Given the description of an element on the screen output the (x, y) to click on. 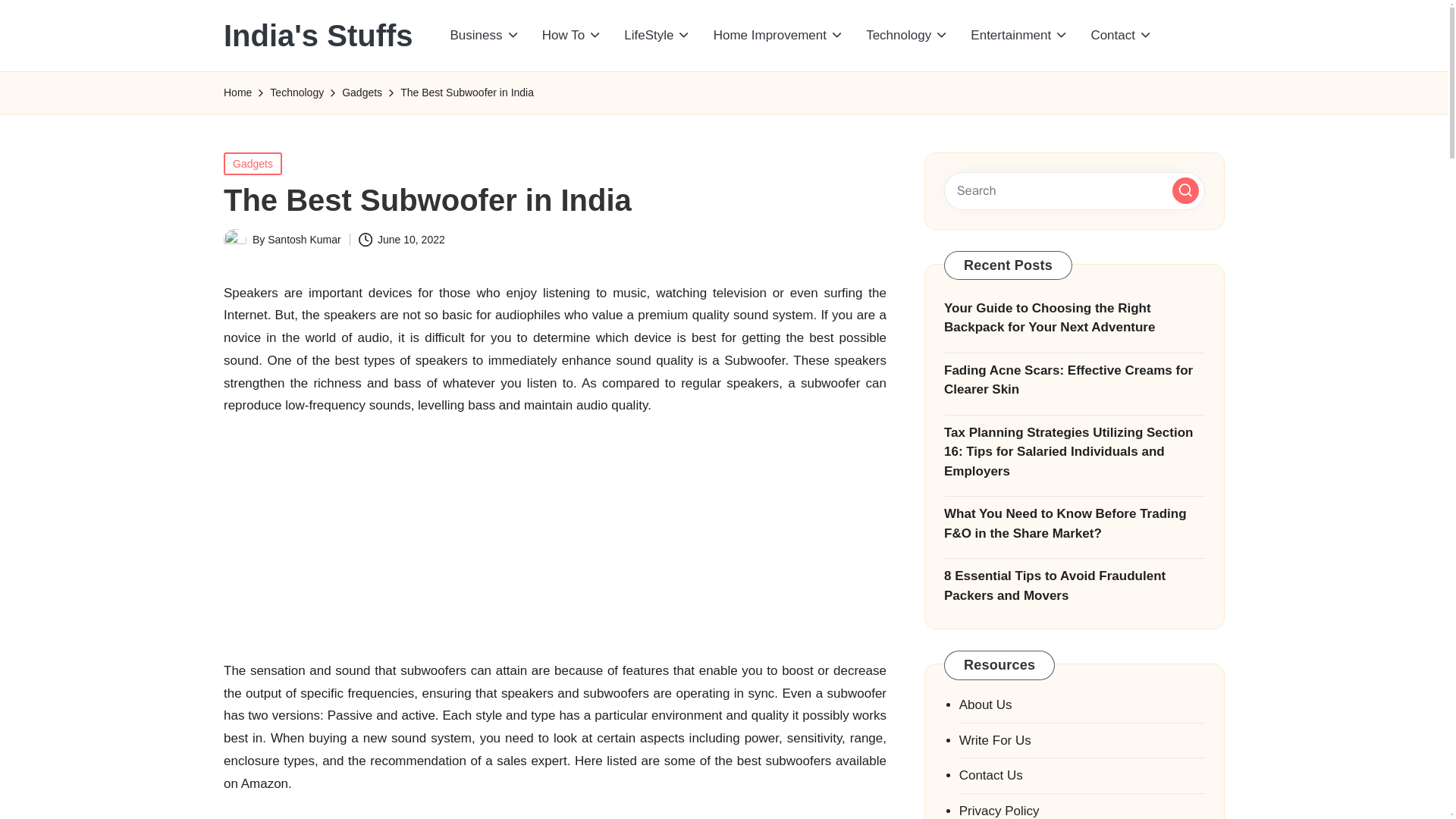
View all posts by Santosh Kumar (303, 239)
India's Stuffs (318, 35)
